Given the description of an element on the screen output the (x, y) to click on. 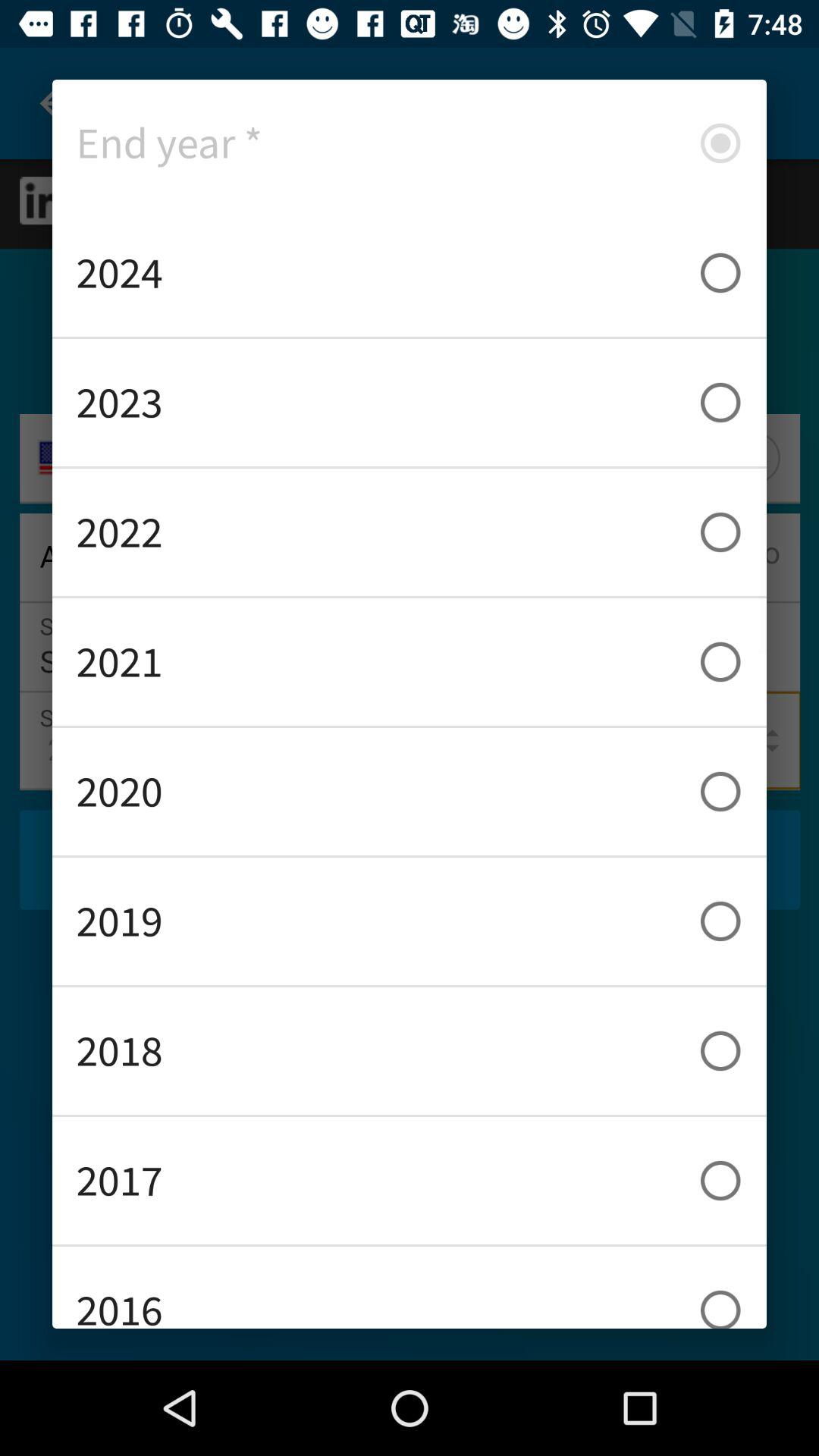
press item below 2021 (409, 791)
